Given the description of an element on the screen output the (x, y) to click on. 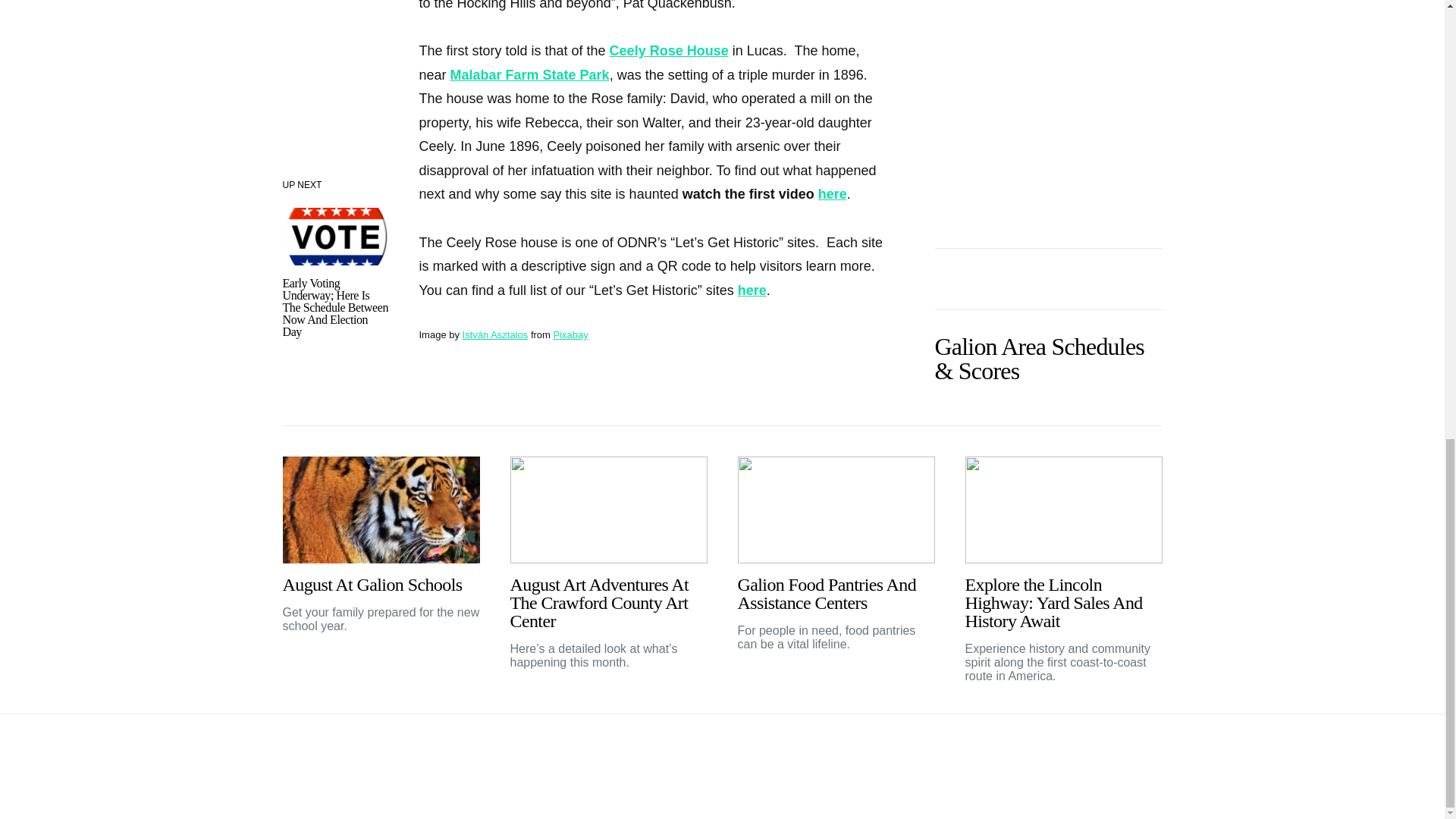
here (752, 290)
here (832, 193)
Pixabay (570, 334)
Terms Of Use (1125, 753)
Ceely Rose House (669, 50)
Advertisement (1047, 105)
Malabar Farm State Park (529, 74)
